Given the description of an element on the screen output the (x, y) to click on. 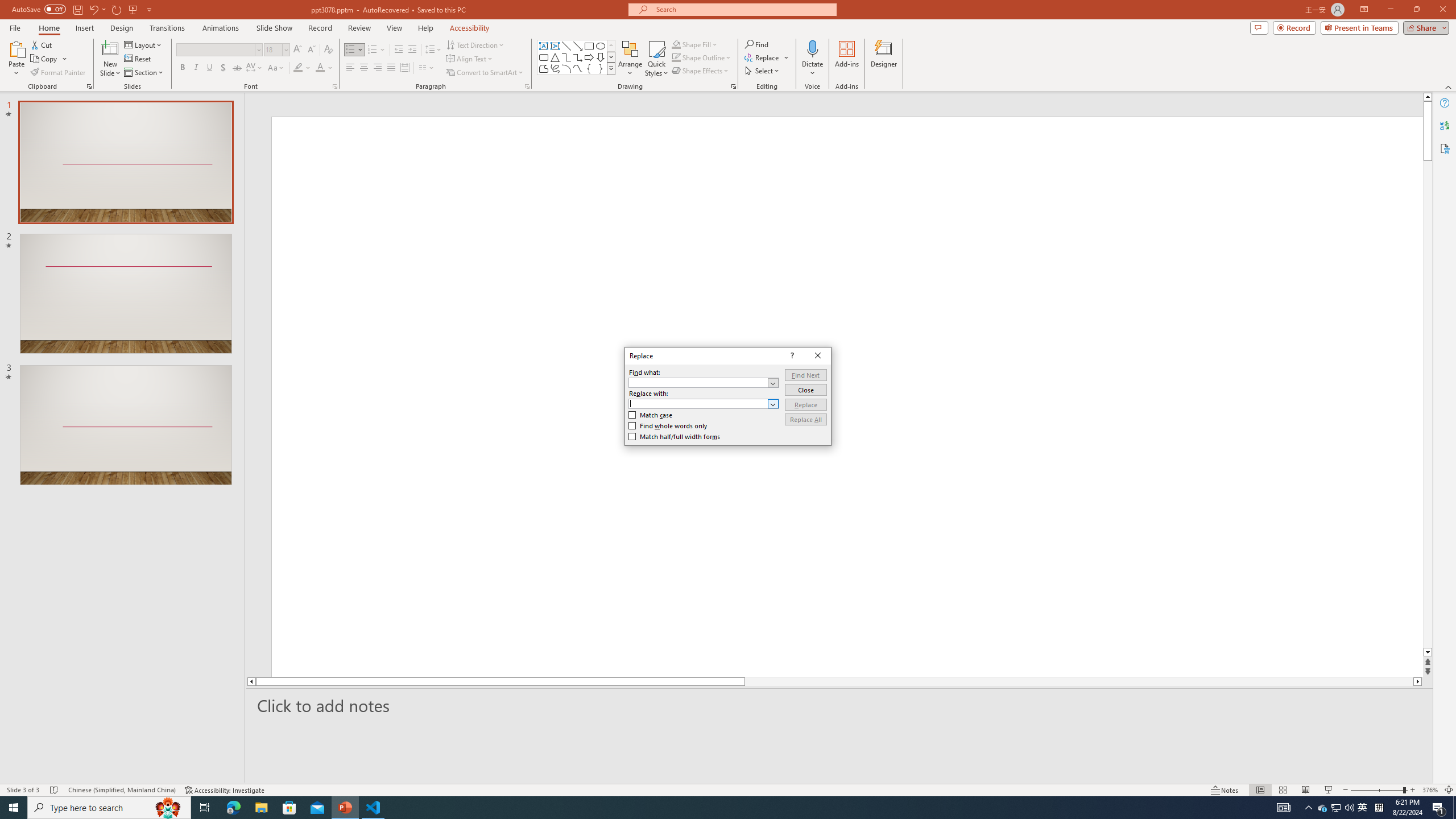
Numbering (372, 49)
Clear Formatting (327, 49)
Replace... (762, 56)
Copy (45, 58)
Shape Effects (700, 69)
Slide (125, 425)
Show desktop (1454, 807)
Find what (697, 382)
Accessibility Checker Accessibility: Investigate (224, 790)
Find whole words only (667, 425)
Text Direction (476, 44)
Align Right (377, 67)
